Given the description of an element on the screen output the (x, y) to click on. 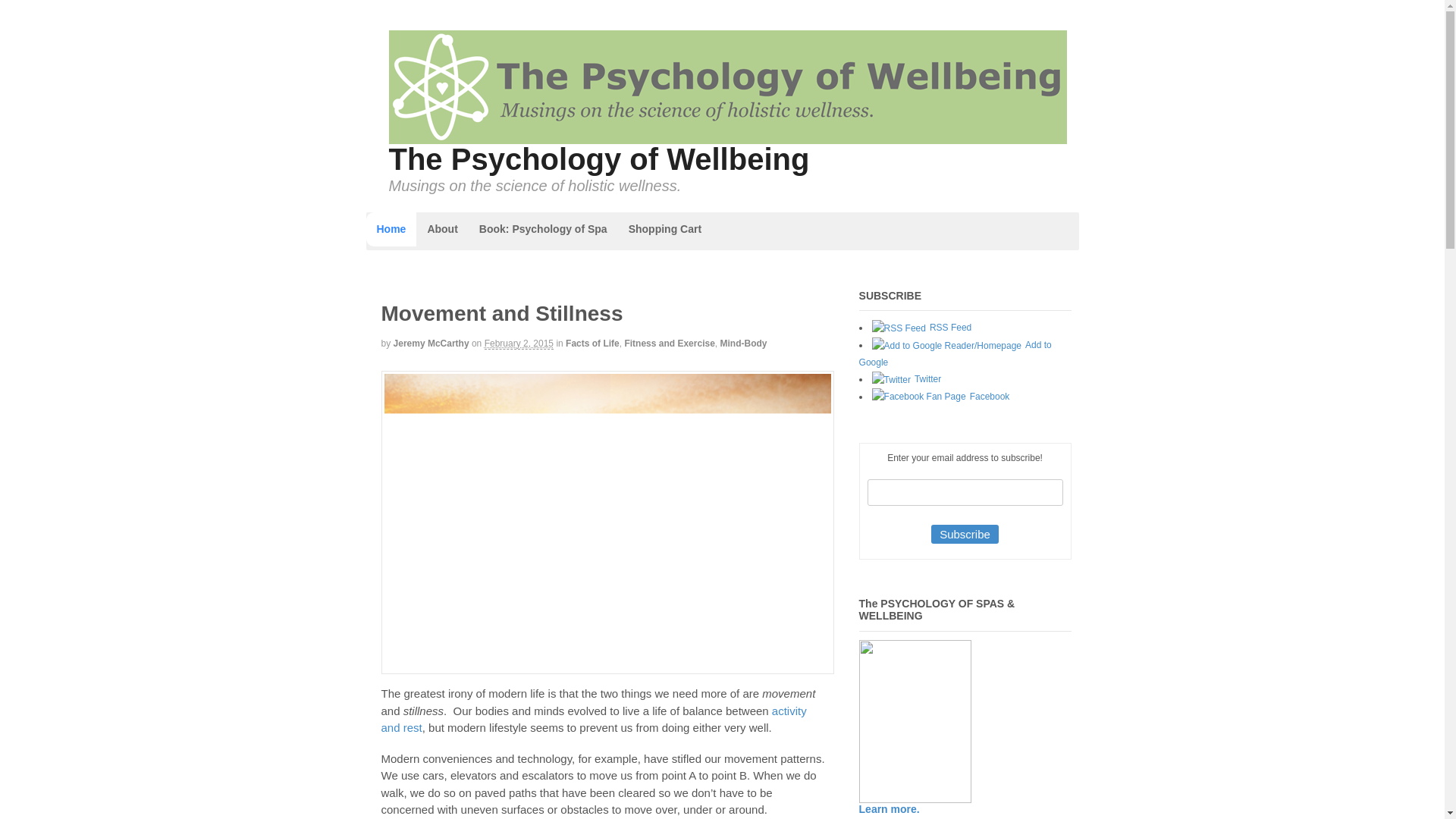
Facts of Life (593, 343)
Mind-Body (743, 343)
The Psychology of Wellbeing (598, 159)
Home (390, 229)
activity and rest (593, 719)
View all items in Mind-Body (743, 343)
Shopping Cart (664, 229)
Jeremy McCarthy (430, 343)
Posts by Jeremy McCarthy (430, 343)
View all items in Fitness and Exercise (669, 343)
